Given the description of an element on the screen output the (x, y) to click on. 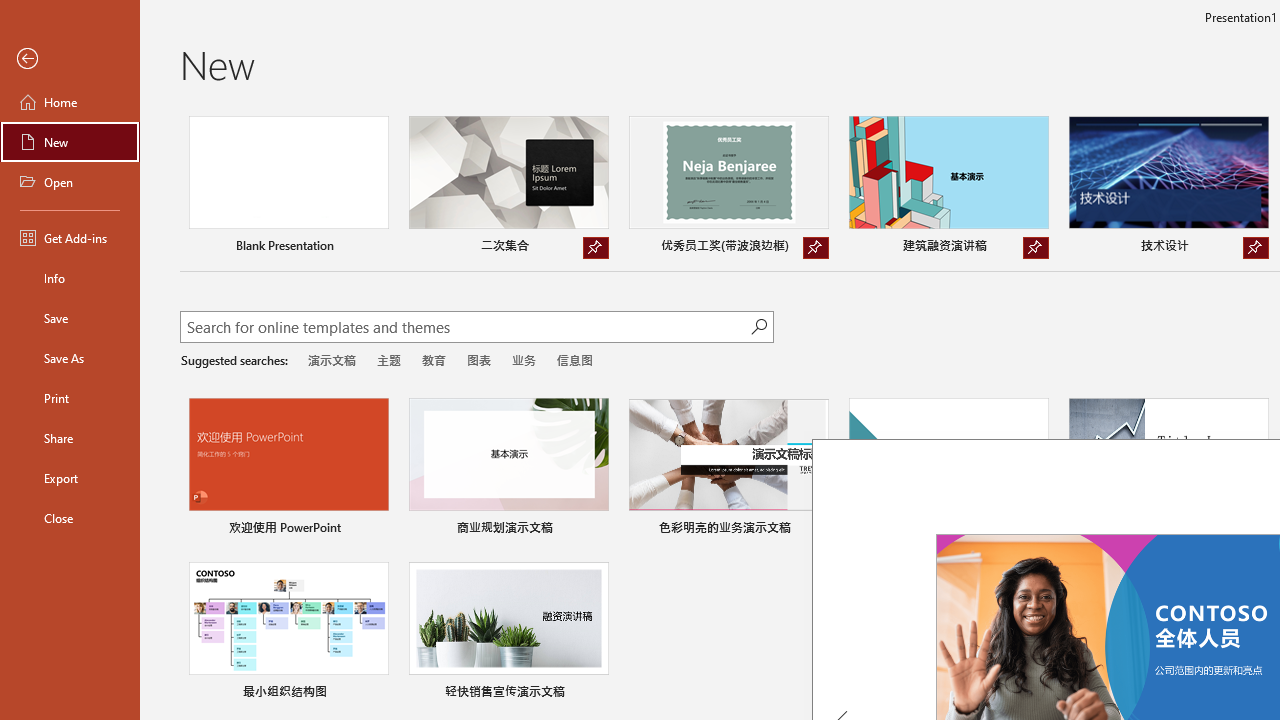
Info (69, 277)
Get Add-ins (69, 237)
New (69, 141)
